Given the description of an element on the screen output the (x, y) to click on. 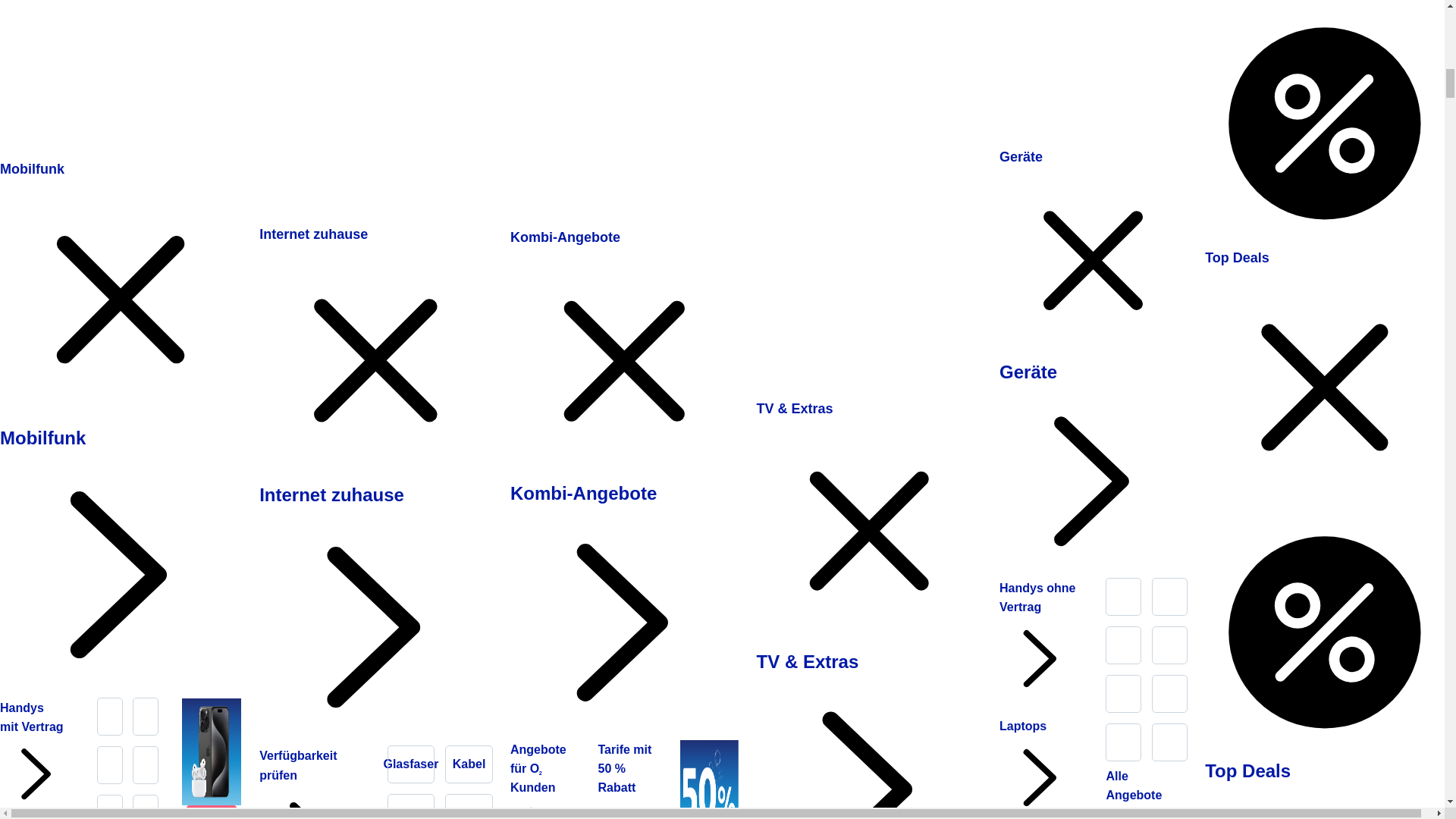
Mobilfunk (123, 561)
Mobilfunk (32, 168)
Kabel (468, 764)
DSL (410, 806)
Internet zuhause (378, 613)
Kombi-Angebote (565, 237)
Nothing (109, 807)
Meta (145, 807)
Glasfaser (410, 764)
Internet zuhause (313, 233)
